Given the description of an element on the screen output the (x, y) to click on. 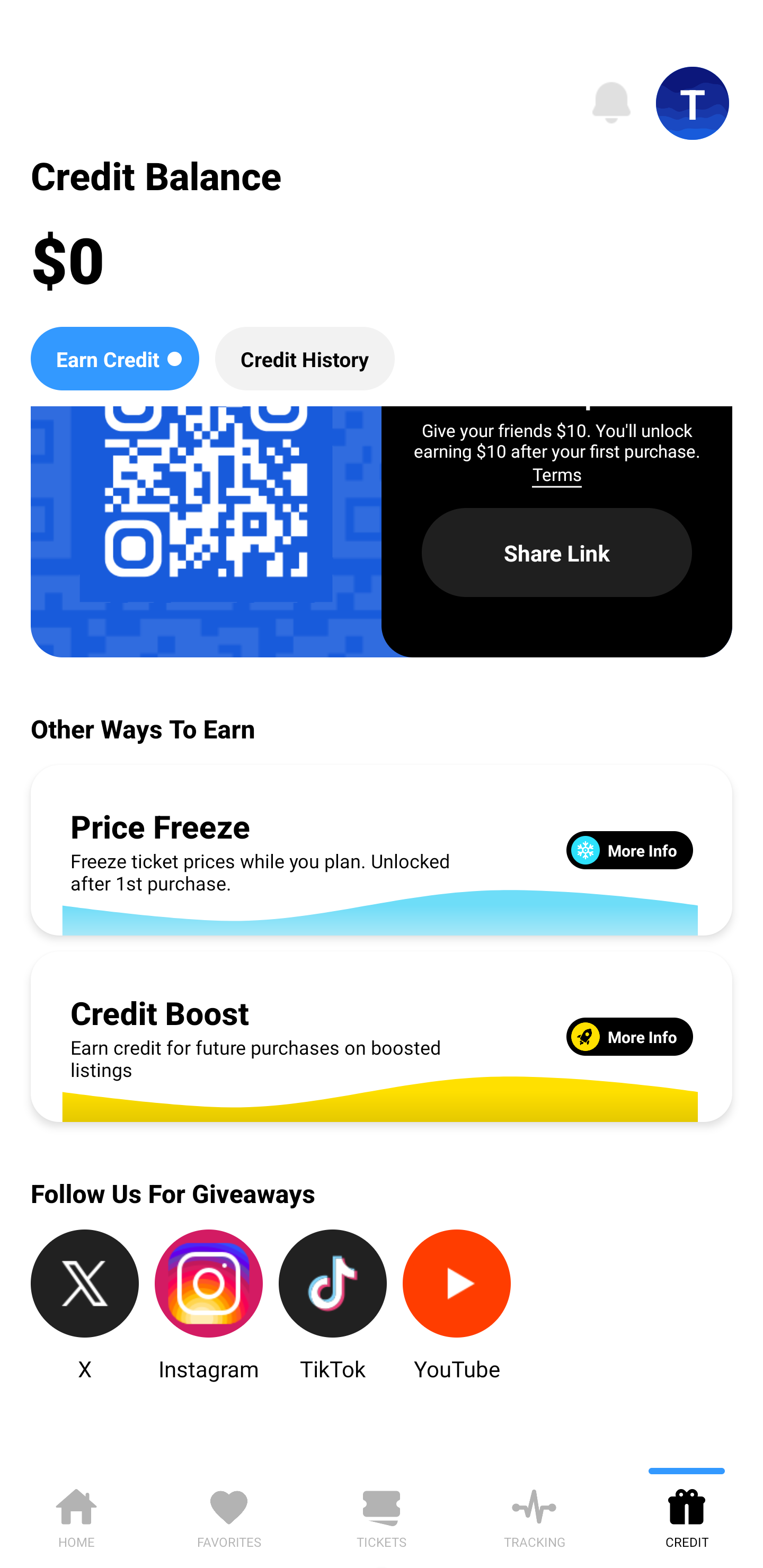
T (692, 103)
Earn Credit (114, 358)
Credit History (304, 358)
Share Link (556, 552)
More Info (629, 849)
More Info (629, 1036)
X (84, 1305)
Instagram (208, 1305)
TikTok (332, 1305)
YouTube (456, 1305)
HOME (76, 1515)
FAVORITES (228, 1515)
TICKETS (381, 1515)
TRACKING (533, 1515)
CREDIT (686, 1515)
